Given the description of an element on the screen output the (x, y) to click on. 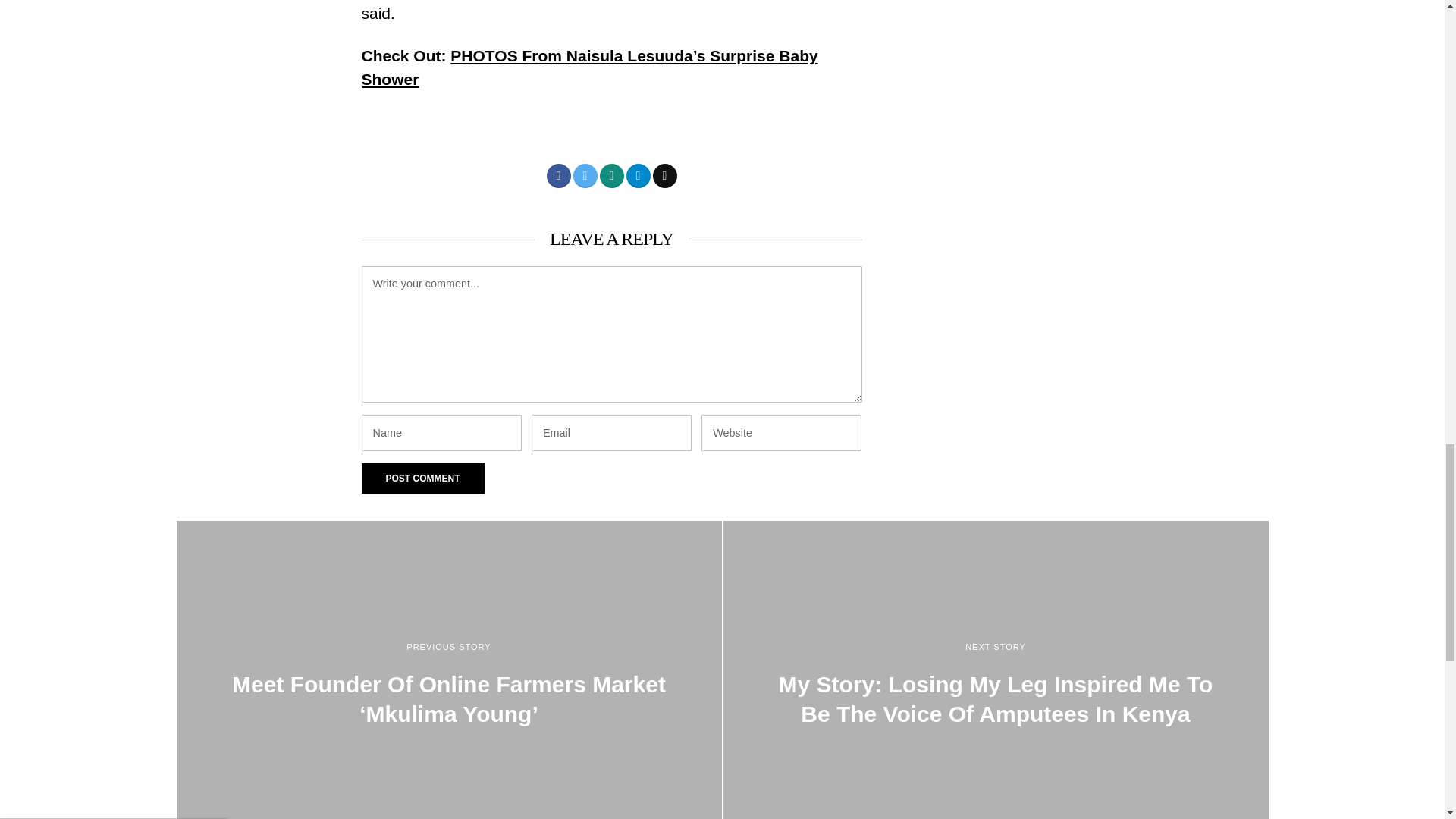
Post Comment (422, 478)
Post Comment (422, 478)
